Given the description of an element on the screen output the (x, y) to click on. 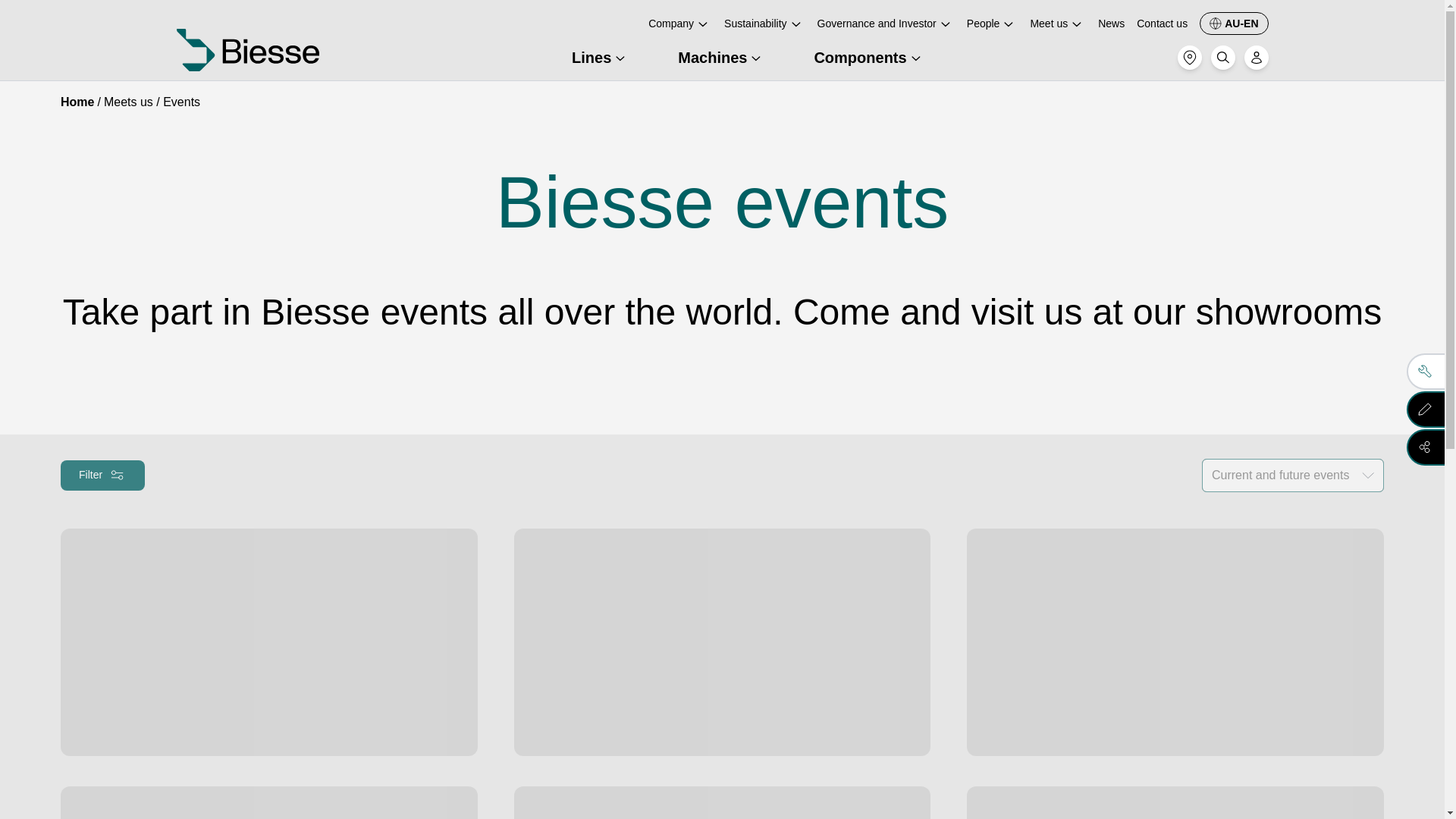
Filter (102, 475)
Company (679, 23)
Lines (600, 56)
Machines (721, 56)
Store locator (1188, 57)
Governance and Investor (885, 23)
People (991, 23)
News (1110, 23)
Sustainability (764, 23)
Components (868, 56)
